Given the description of an element on the screen output the (x, y) to click on. 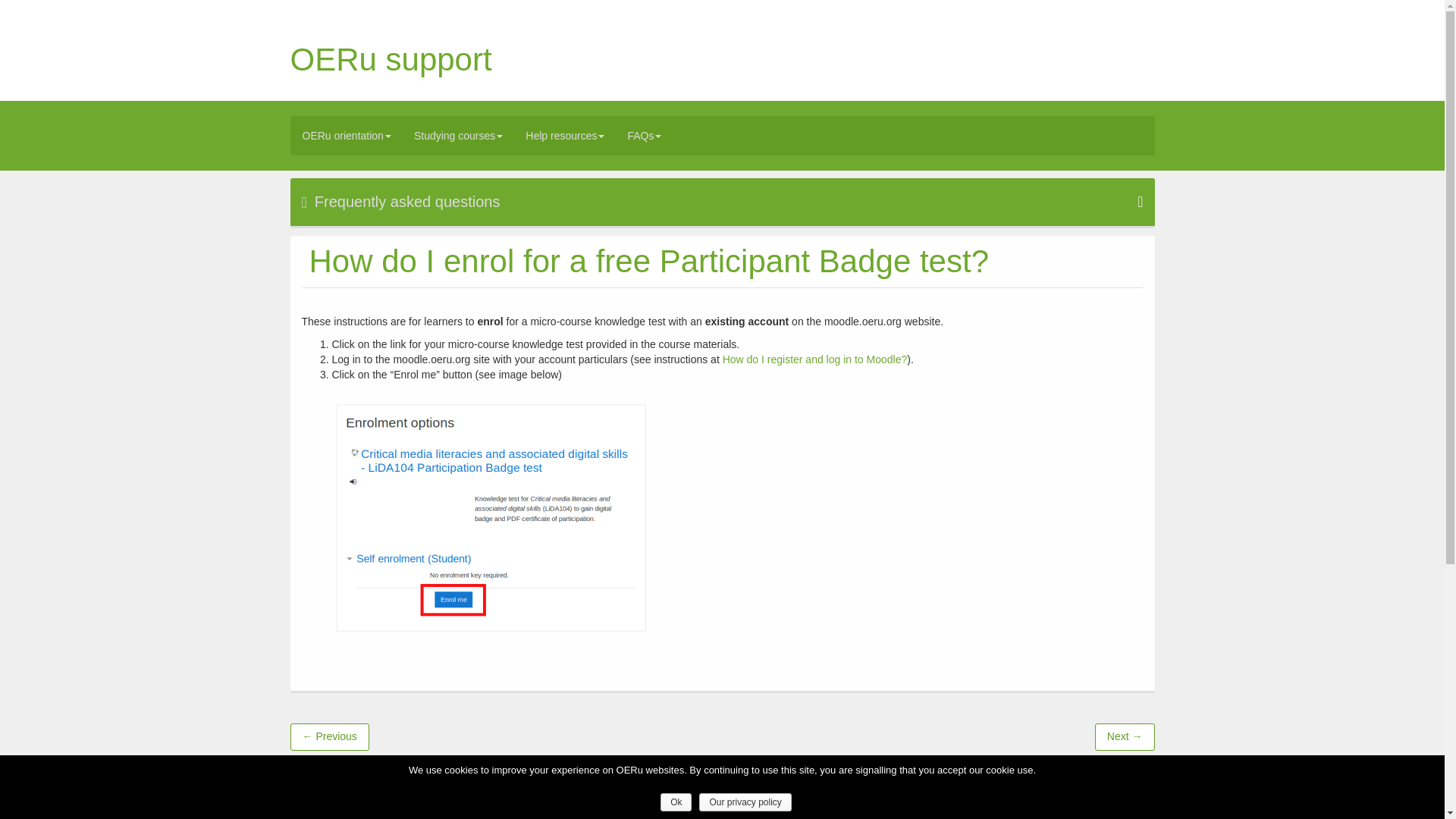
Studying courses (458, 135)
FAQs (643, 135)
Help resources (564, 135)
OERu support (390, 58)
OERu orientation (347, 135)
Frequently asked questions (721, 202)
